Given the description of an element on the screen output the (x, y) to click on. 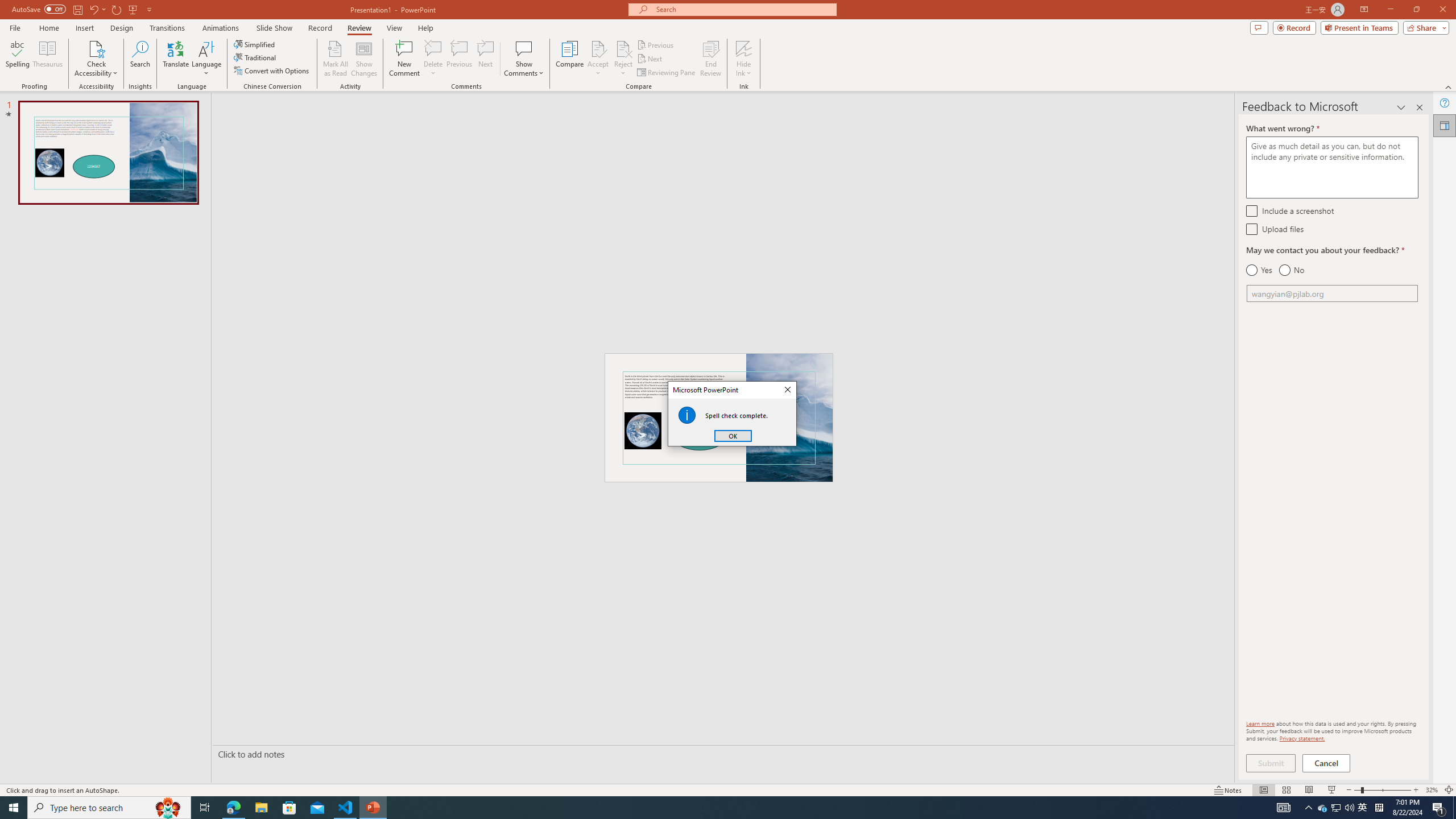
Email (1362, 807)
Mark All as Read (1332, 293)
Tray Input Indicator - Chinese (Simplified, China) (335, 58)
Show Comments (1378, 807)
No (524, 58)
Submit (1291, 269)
Action Center, 1 new notification (1270, 763)
Class: MsoCommandBar (1439, 807)
Visual Studio Code - 1 running window (728, 789)
Spelling... (345, 807)
